Given the description of an element on the screen output the (x, y) to click on. 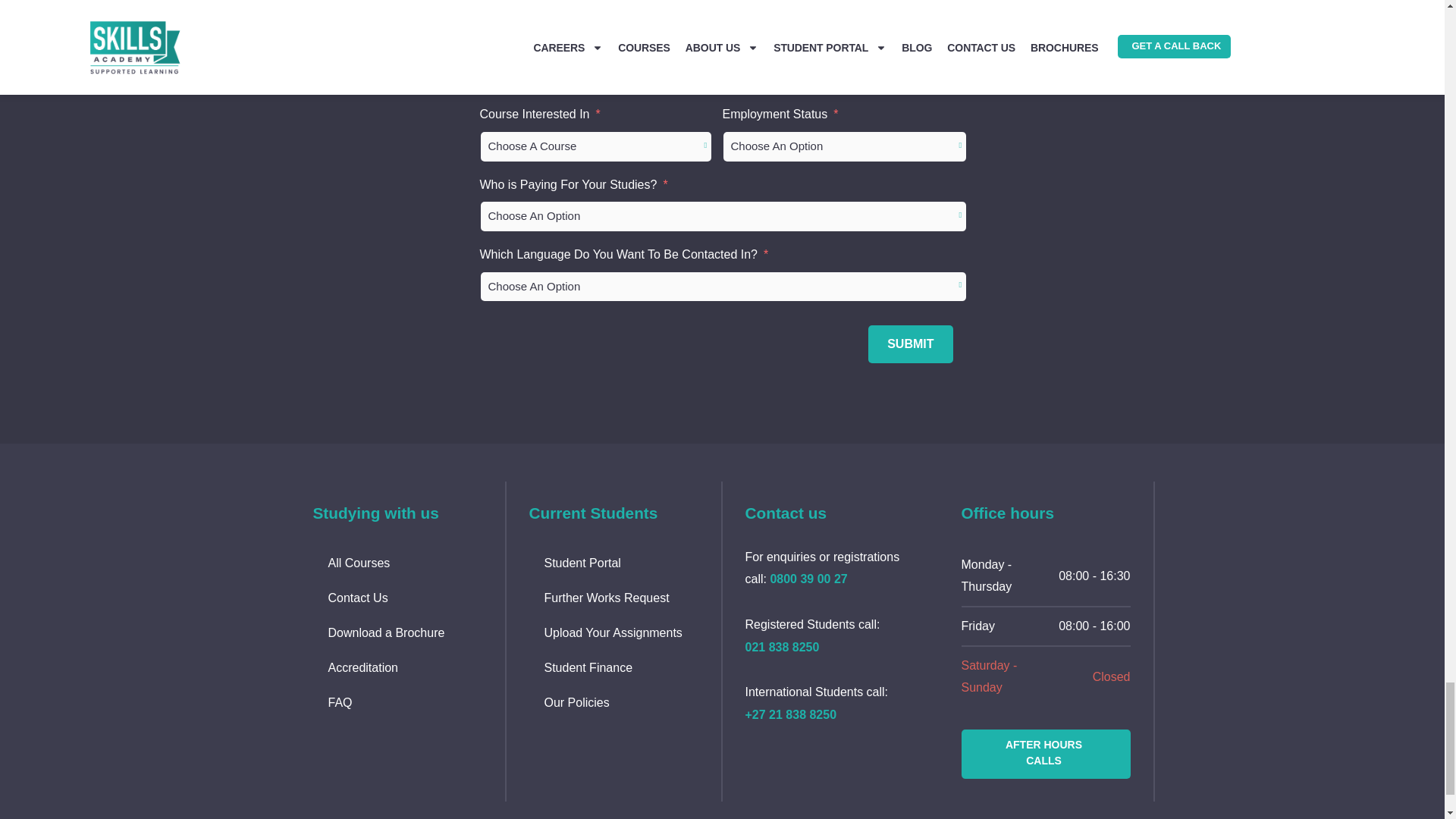
Submit (909, 344)
